Given the description of an element on the screen output the (x, y) to click on. 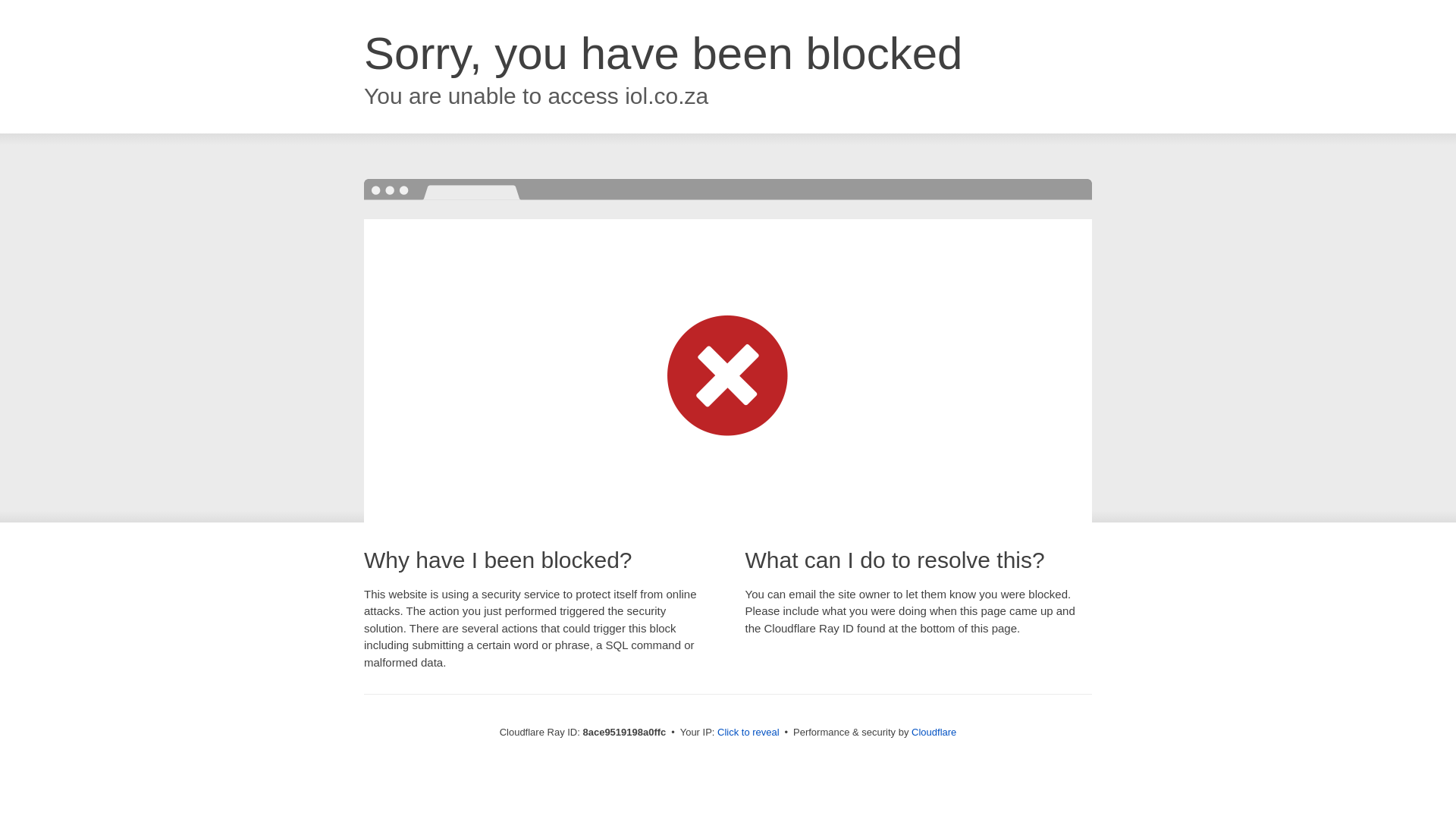
Cloudflare (933, 731)
Click to reveal (747, 732)
